Given the description of an element on the screen output the (x, y) to click on. 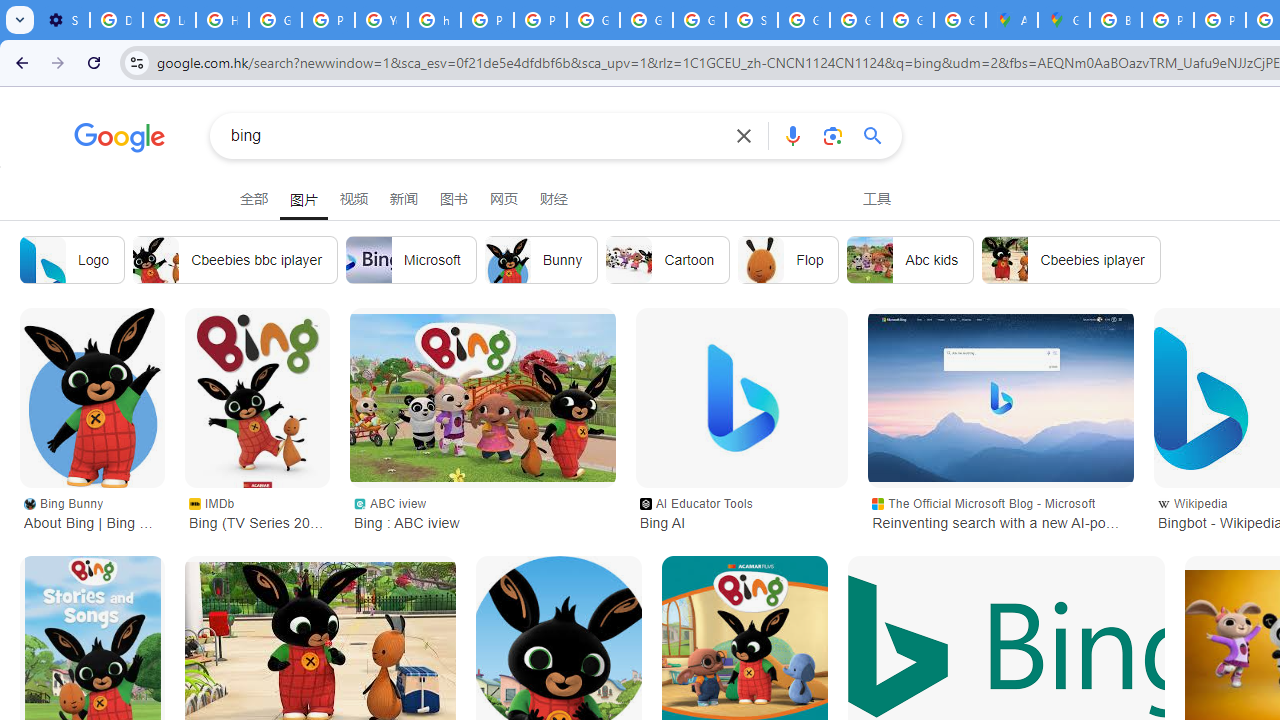
About Bing | Bing Bunny (92, 398)
ABC iview Bing : ABC iview (482, 511)
